Given the description of an element on the screen output the (x, y) to click on. 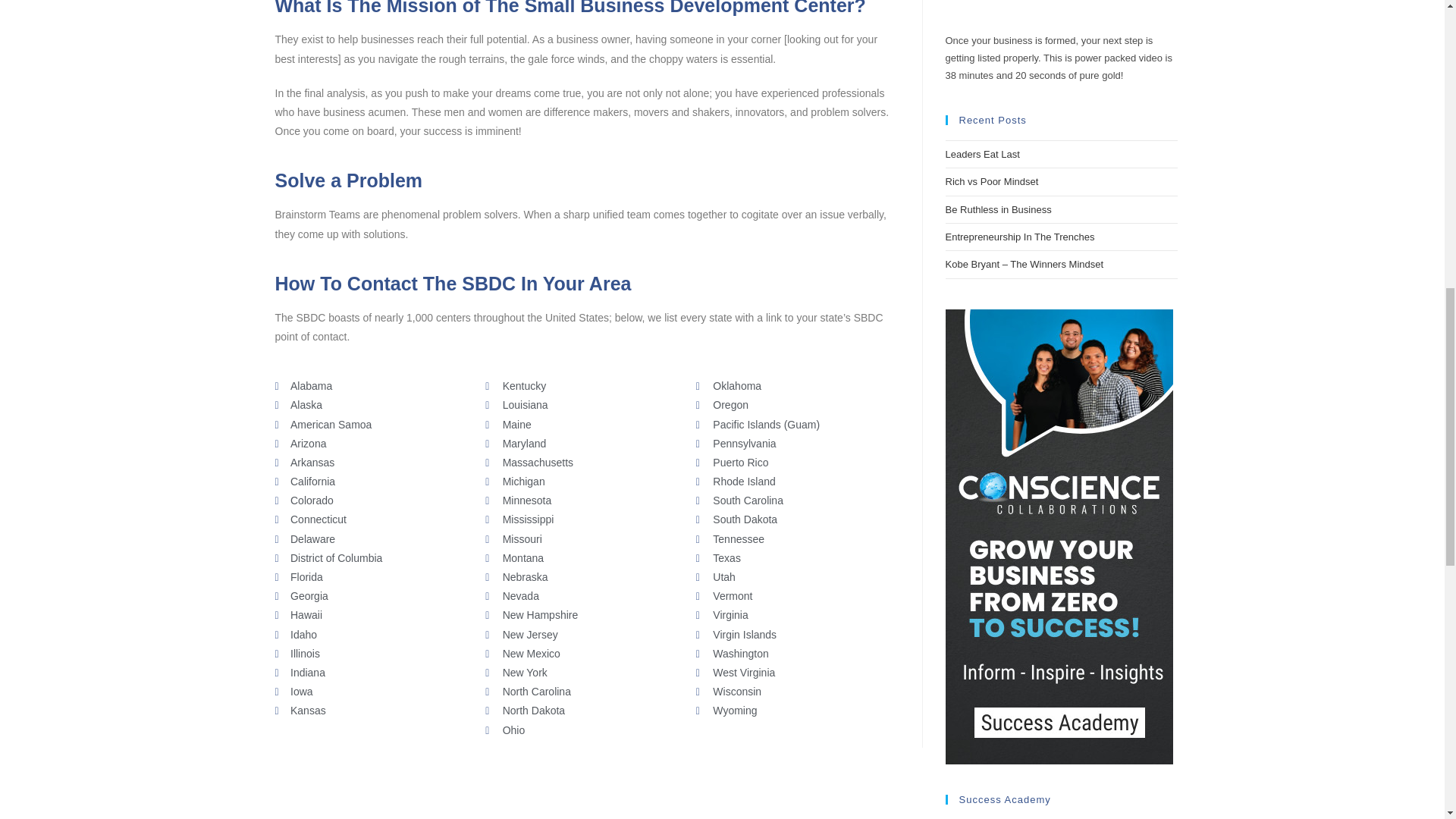
American Samoa (372, 424)
Arkansas (372, 462)
Alabama (372, 385)
Alaska (372, 404)
Colorado (372, 500)
California (372, 481)
Connecticut (372, 519)
Arizona (372, 443)
